Given the description of an element on the screen output the (x, y) to click on. 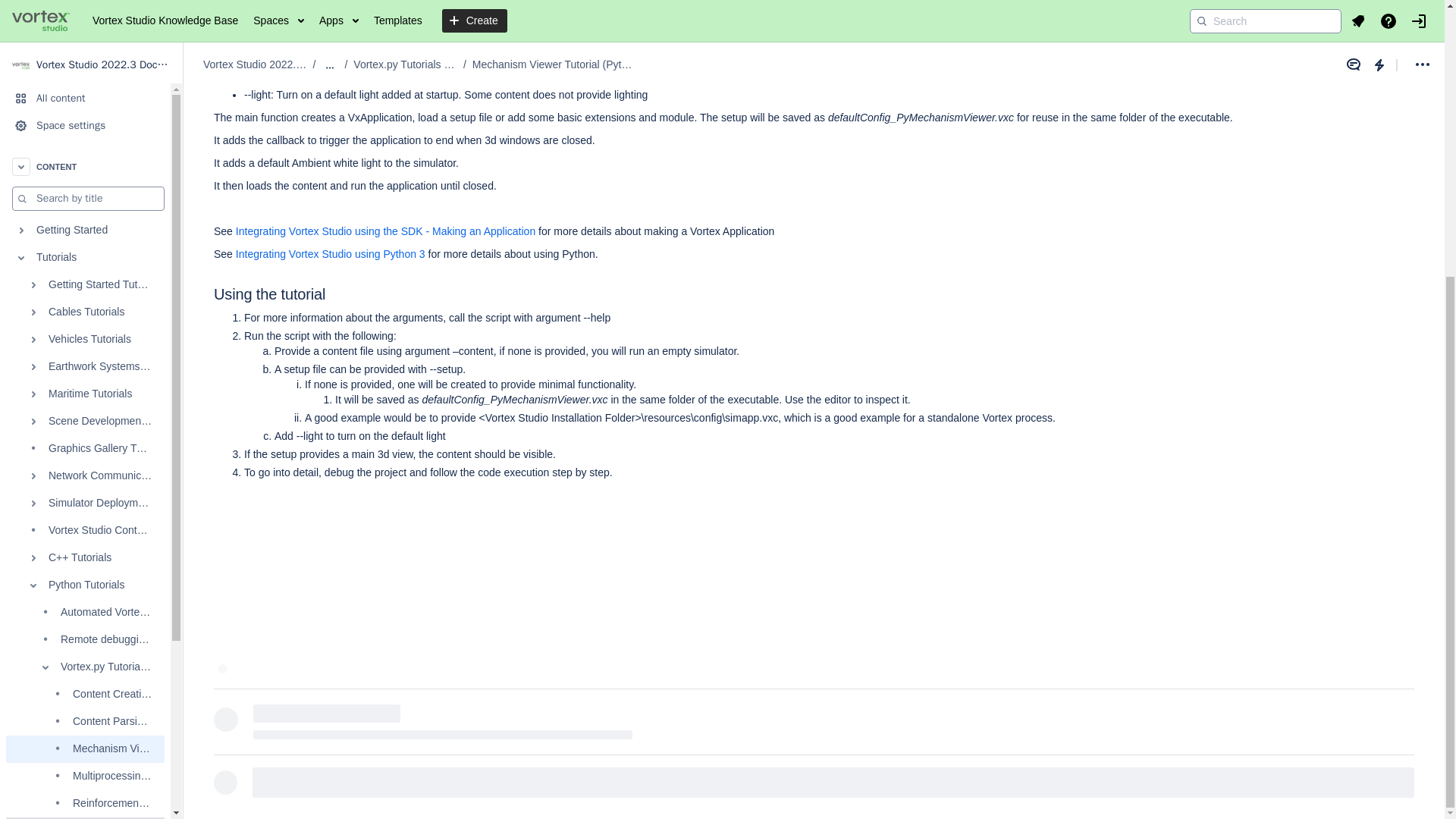
Simulator Deployment Tutorials (84, 93)
Scene Development Tutorials (84, 12)
Network Communication Tutorials (84, 65)
